Given the description of an element on the screen output the (x, y) to click on. 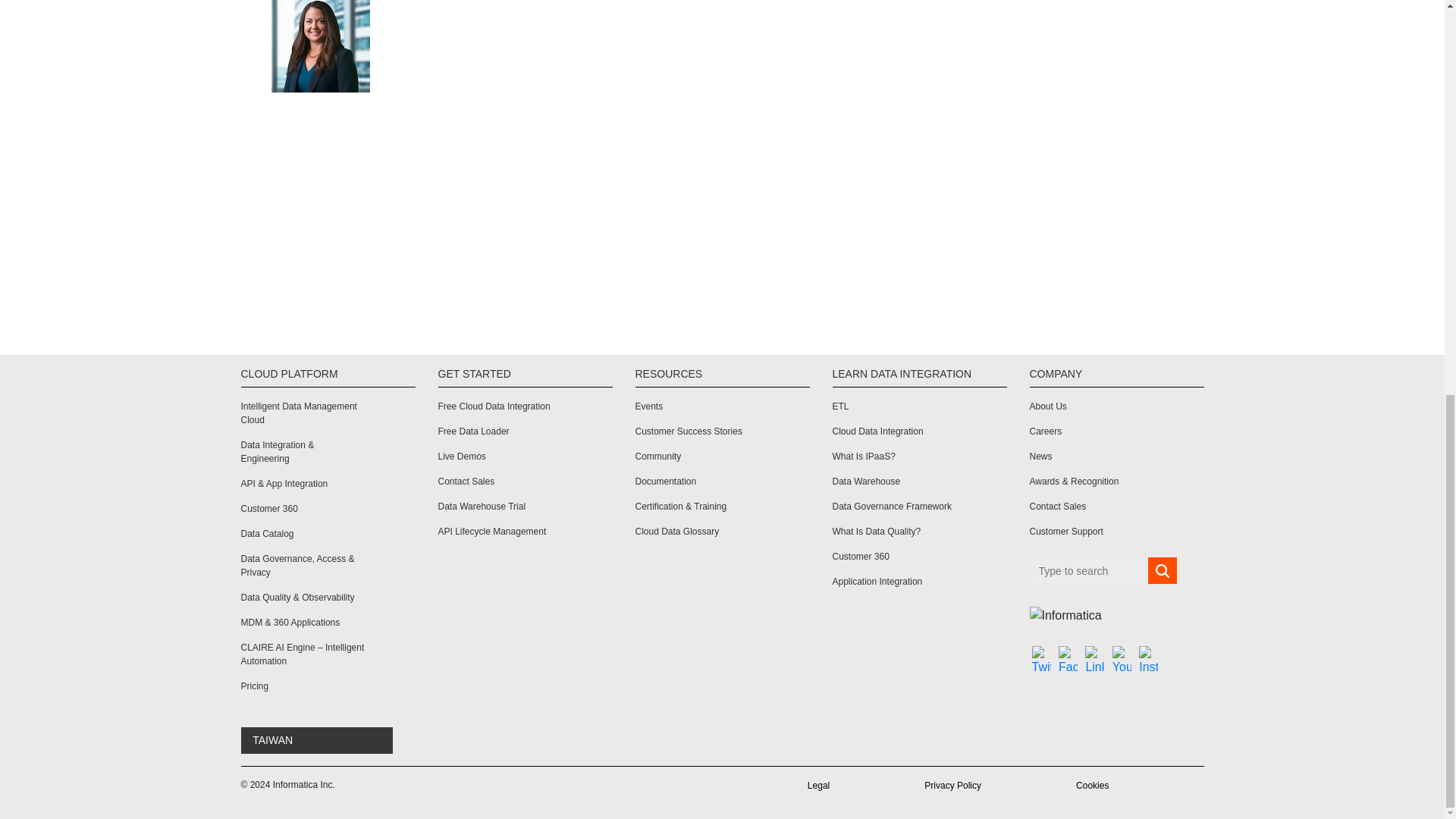
Insert a query. Press enter to send (1088, 570)
Search (1162, 571)
